Given the description of an element on the screen output the (x, y) to click on. 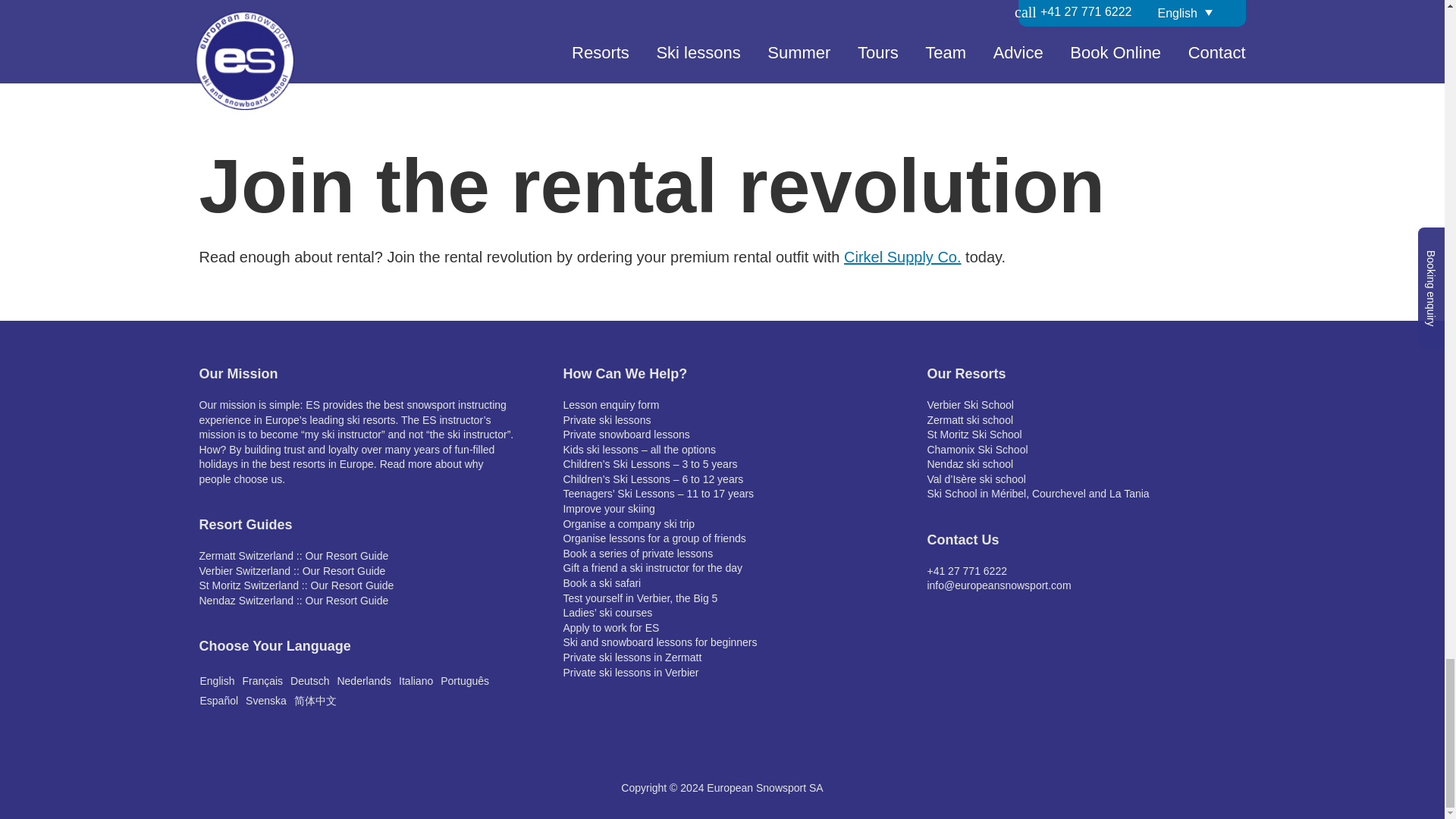
Nendaz Ski School (969, 463)
Verbier Ski School (969, 404)
Zermatt Ski School (969, 419)
St Moritz Ski School (974, 434)
